Given the description of an element on the screen output the (x, y) to click on. 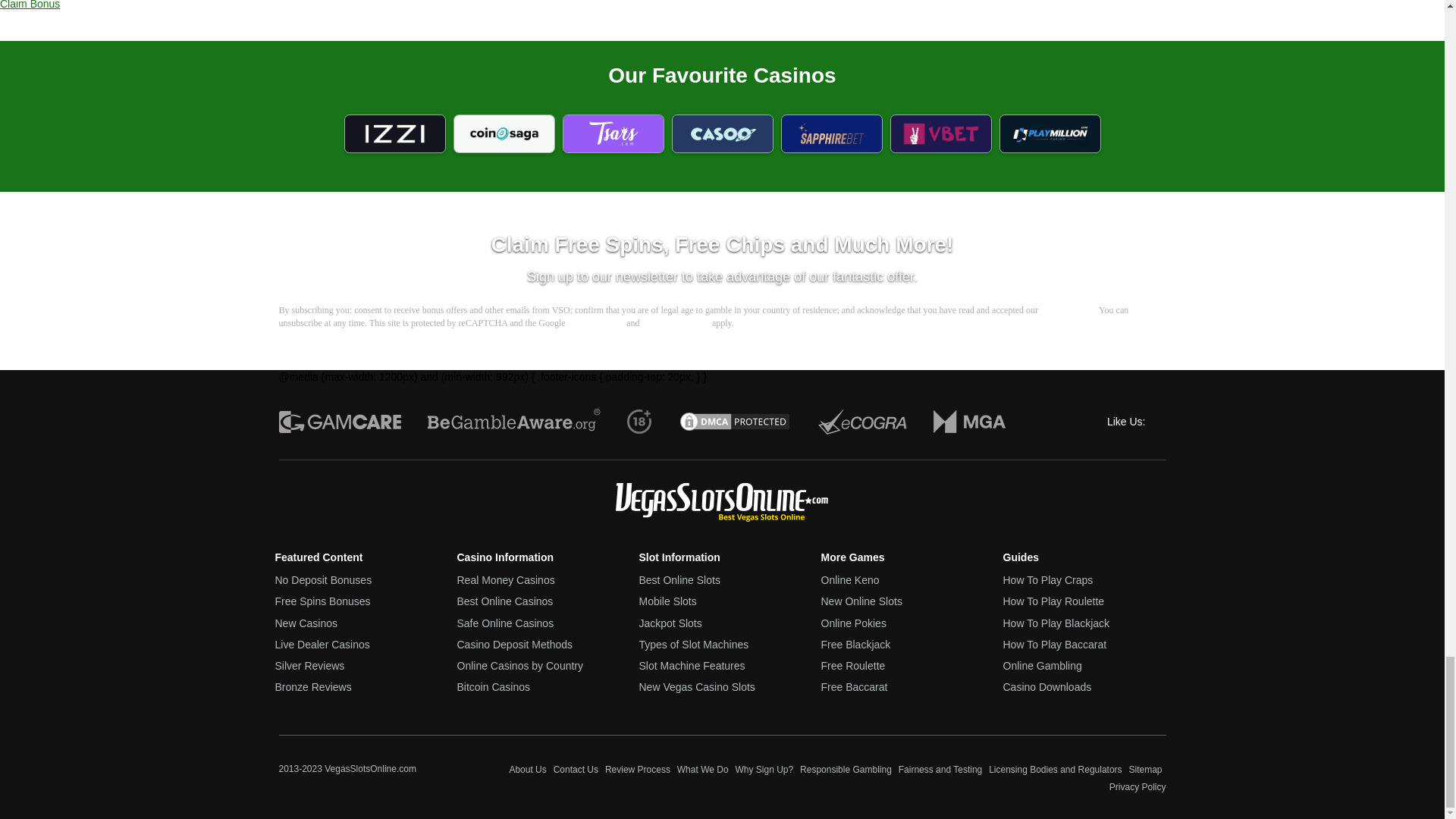
Gambleaware (513, 421)
DMCA.com Protection Status (735, 421)
Ecogra (860, 421)
Gamcare (340, 421)
